Given the description of an element on the screen output the (x, y) to click on. 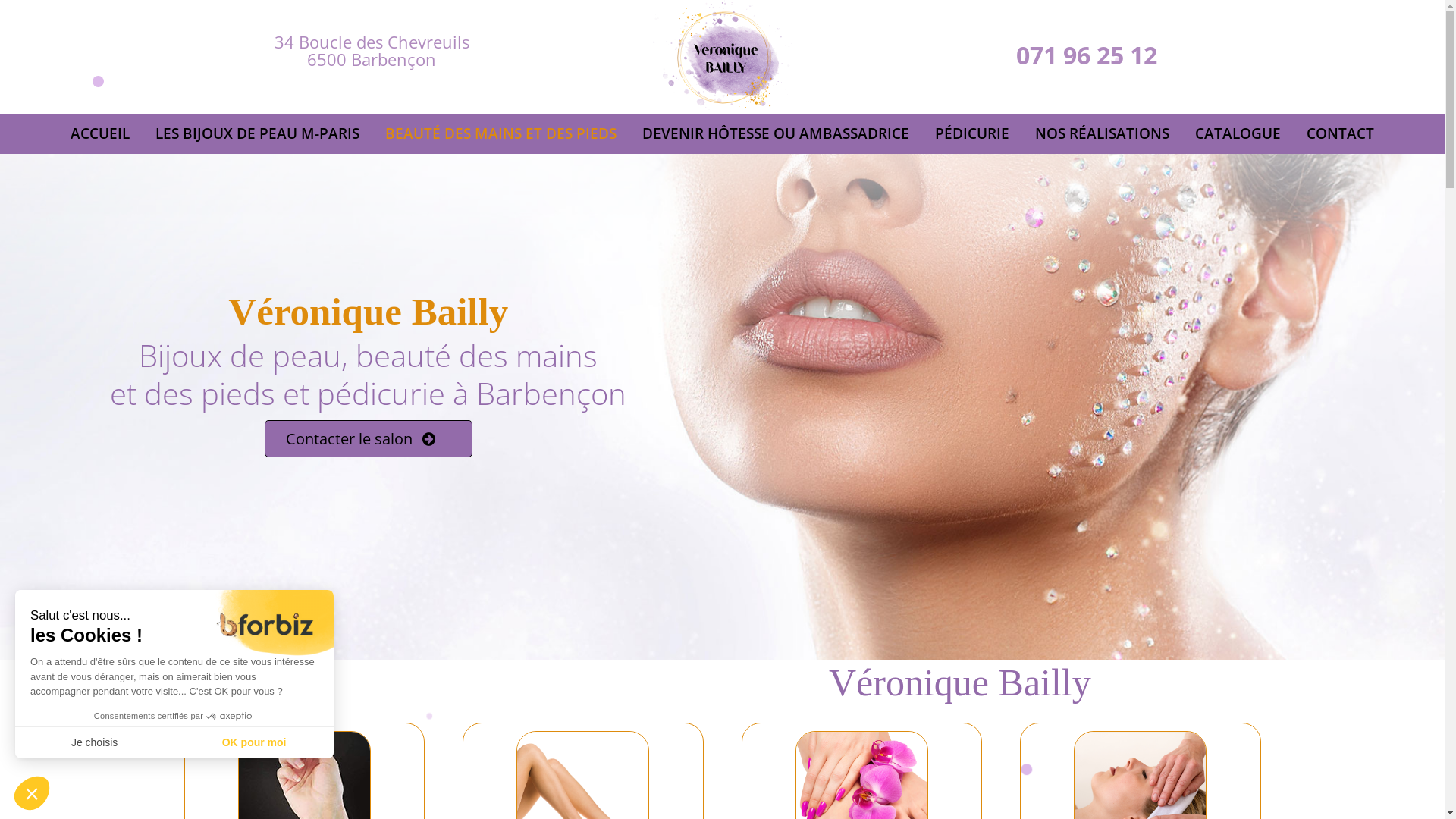
CONTACT Element type: text (1340, 133)
Je choisis Element type: text (94, 742)
LES BIJOUX DE PEAU M-PARIS Element type: text (257, 133)
Contacter le salon Element type: text (368, 438)
ACCUEIL Element type: text (100, 133)
CATALOGUE Element type: text (1237, 133)
071 96 25 12 Element type: text (1086, 54)
Close the widget without accepting cookie settings Element type: hover (31, 793)
OK pour moi Element type: text (253, 742)
